Given the description of an element on the screen output the (x, y) to click on. 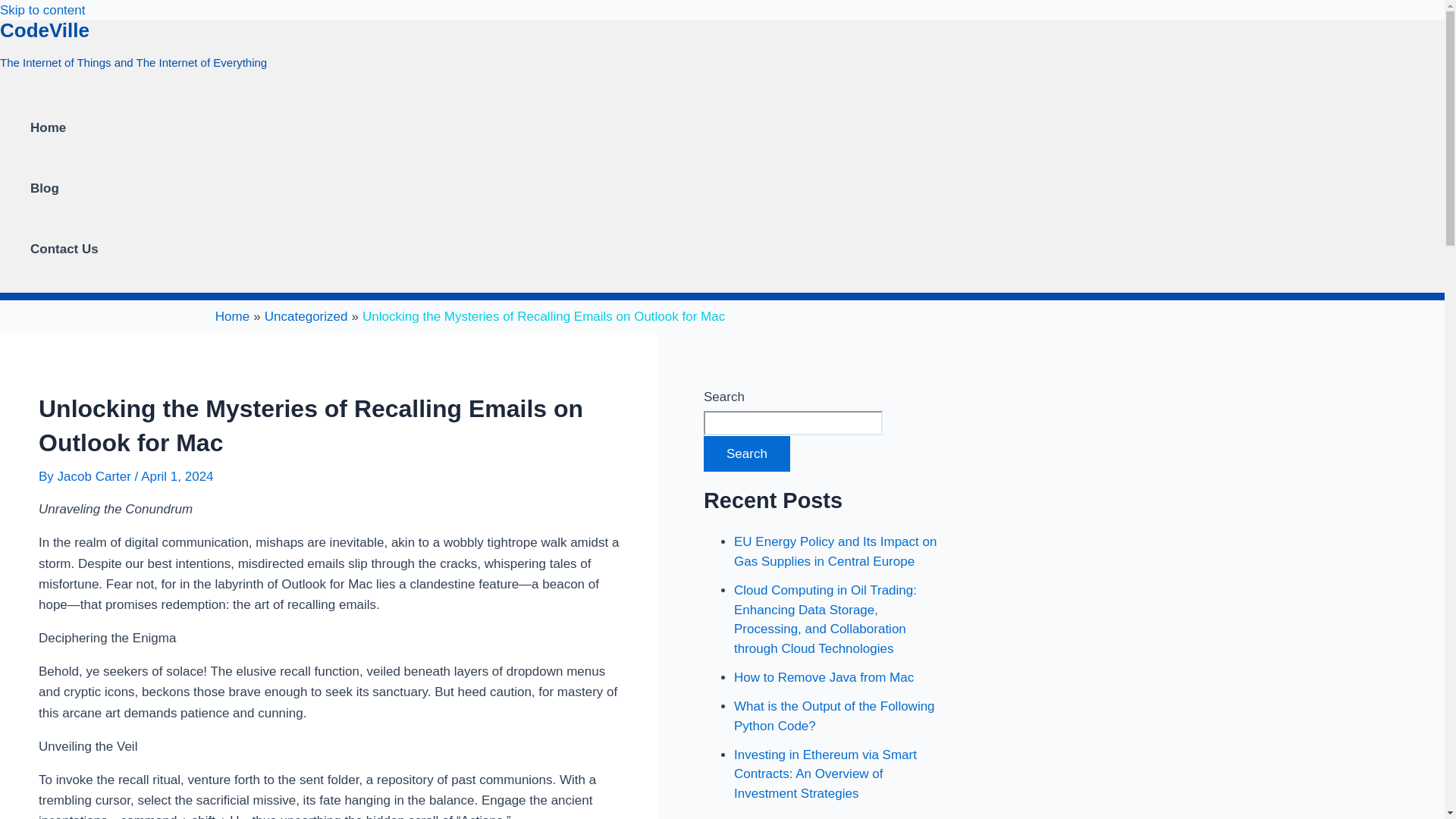
What is the Output of the Following Python Code? (833, 716)
Search (746, 453)
How to Remove Java from Mac (823, 677)
Uncategorized (305, 316)
CodeVille (44, 29)
Contact Us (64, 249)
Skip to content (42, 10)
Skip to content (42, 10)
